Given the description of an element on the screen output the (x, y) to click on. 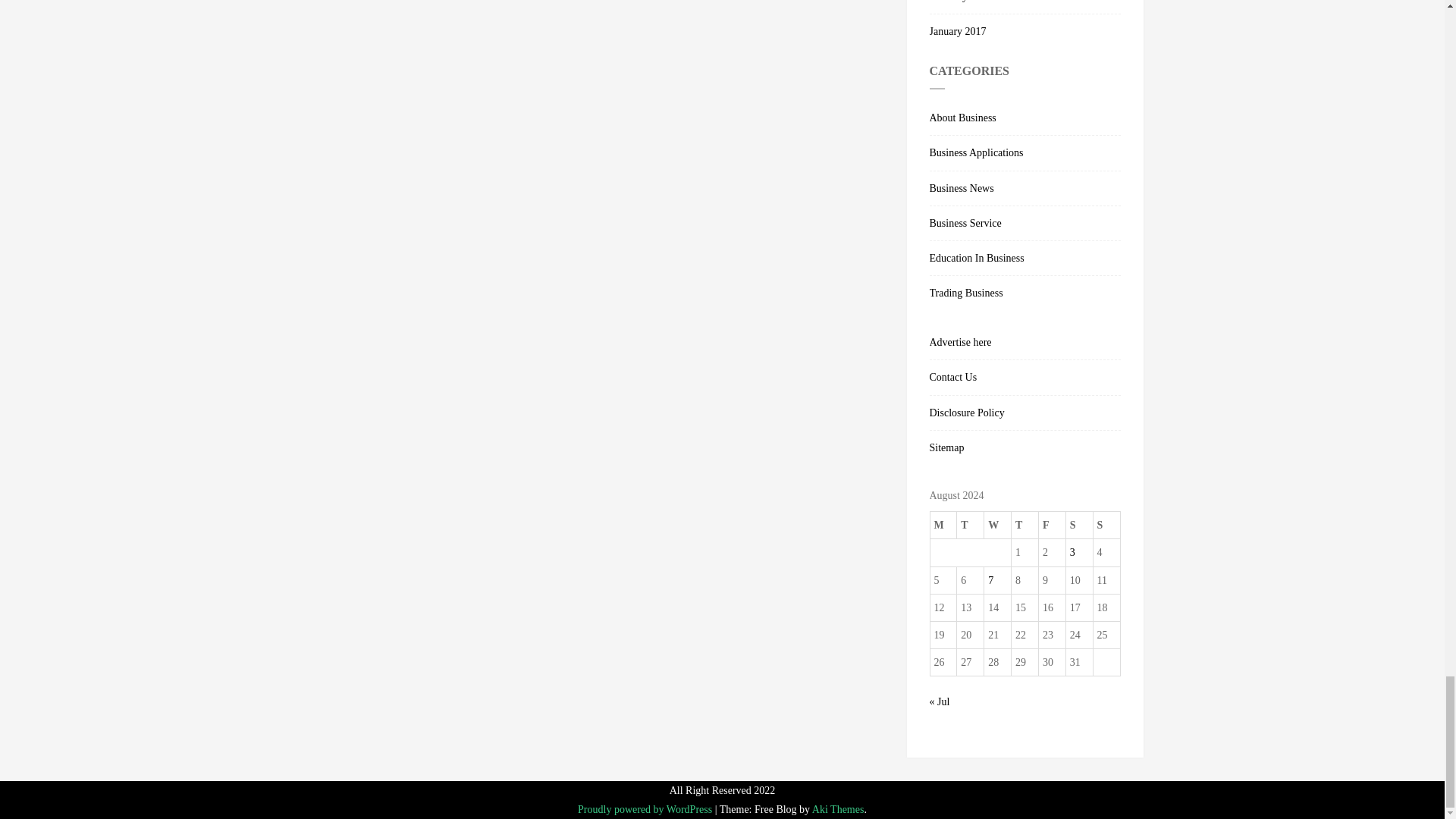
Sunday (1106, 524)
Monday (943, 524)
Friday (1051, 524)
Thursday (1025, 524)
Wednesday (997, 524)
Tuesday (970, 524)
Saturday (1079, 524)
